Given the description of an element on the screen output the (x, y) to click on. 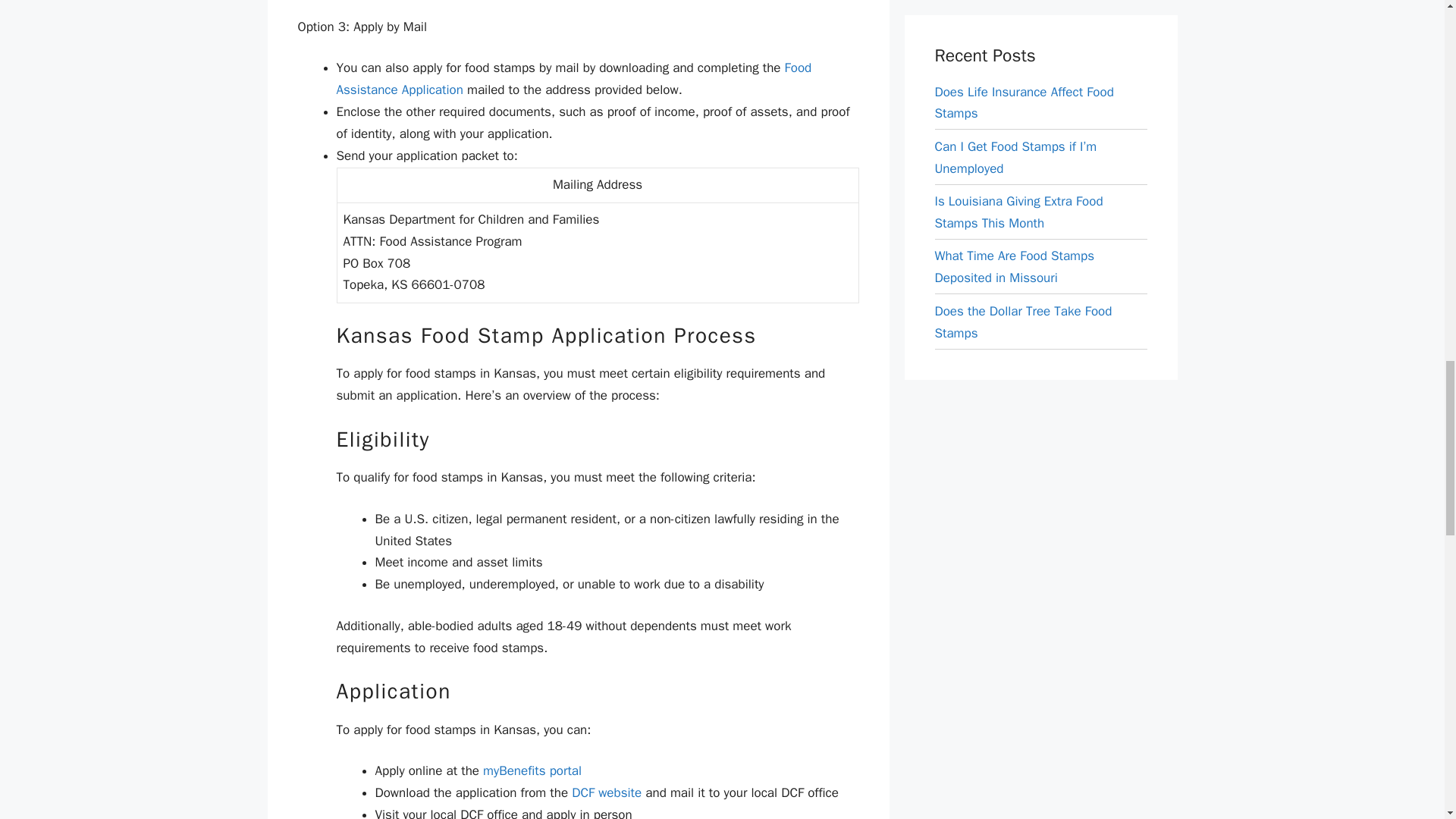
DCF website (607, 792)
Food Assistance Application (574, 78)
myBenefits portal (531, 770)
